Given the description of an element on the screen output the (x, y) to click on. 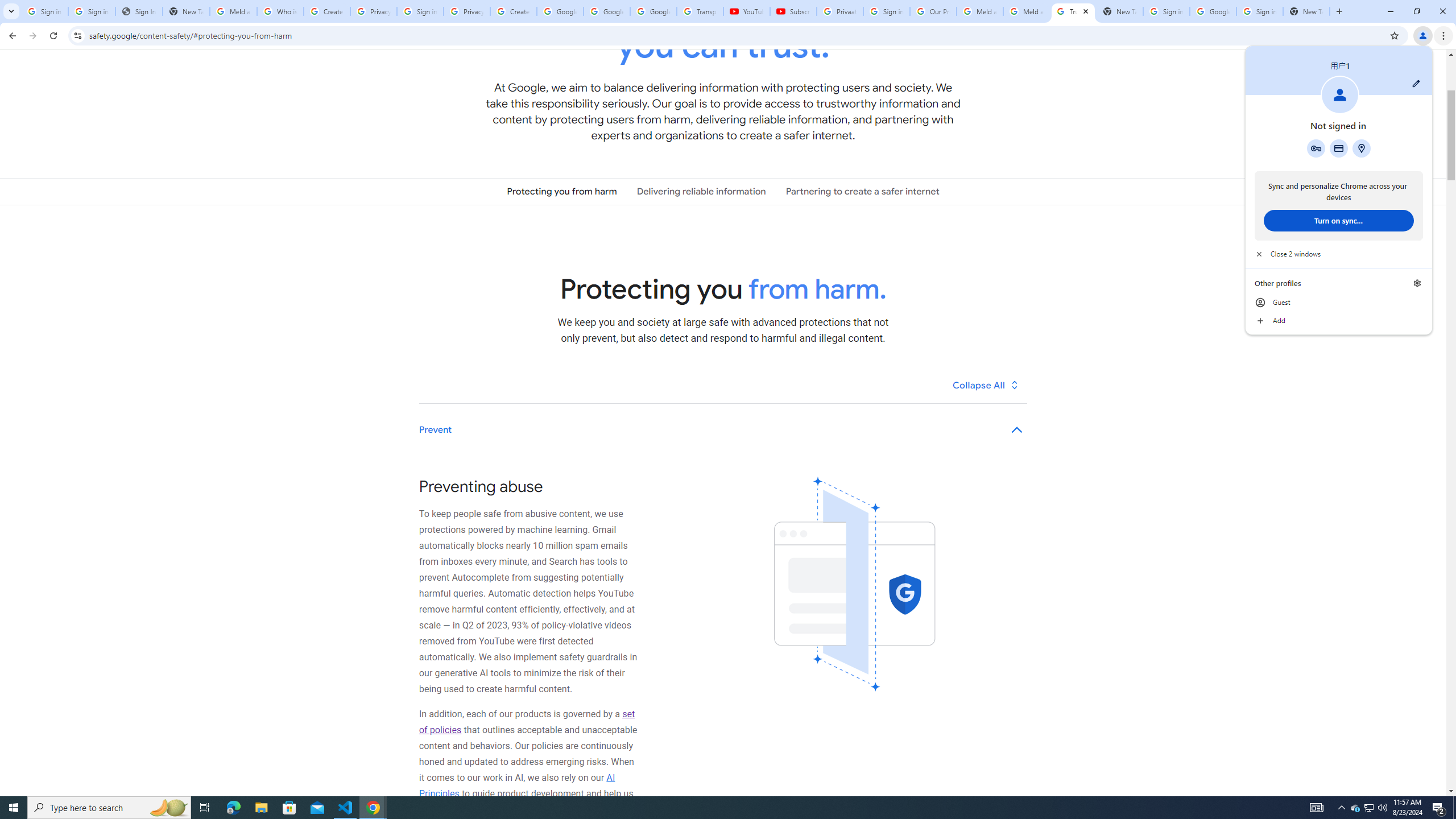
Manage profiles (1417, 283)
Collapse All (985, 384)
Addresses and more (1355, 807)
Prevent (1361, 148)
Action Center, 2 new notifications (723, 429)
Subscriptions - YouTube (1439, 807)
Sign in - Google Accounts (792, 11)
Partnering to create a safer internet (44, 11)
Google Chrome - 2 running windows (862, 191)
Create your Google Account (373, 807)
